Given the description of an element on the screen output the (x, y) to click on. 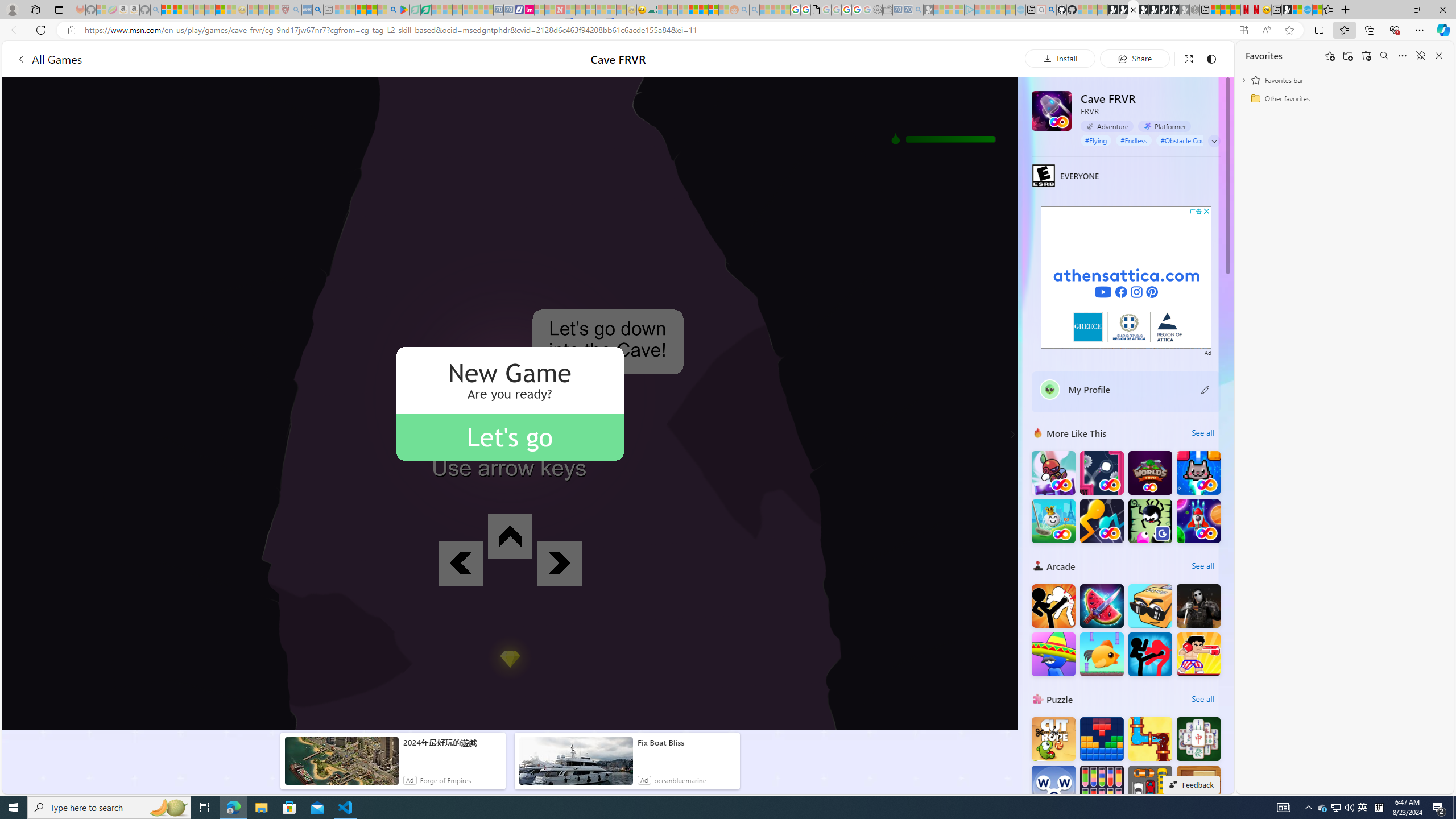
Adventure (1107, 125)
Worlds FRVR (1149, 472)
Pets - MSN (371, 9)
Install (1060, 58)
Play Cave FRVR in your browser | Games from Microsoft Start (1132, 9)
Fix Boat Bliss (686, 742)
Stickman Fighter : Mega Brawl (1053, 605)
